Given the description of an element on the screen output the (x, y) to click on. 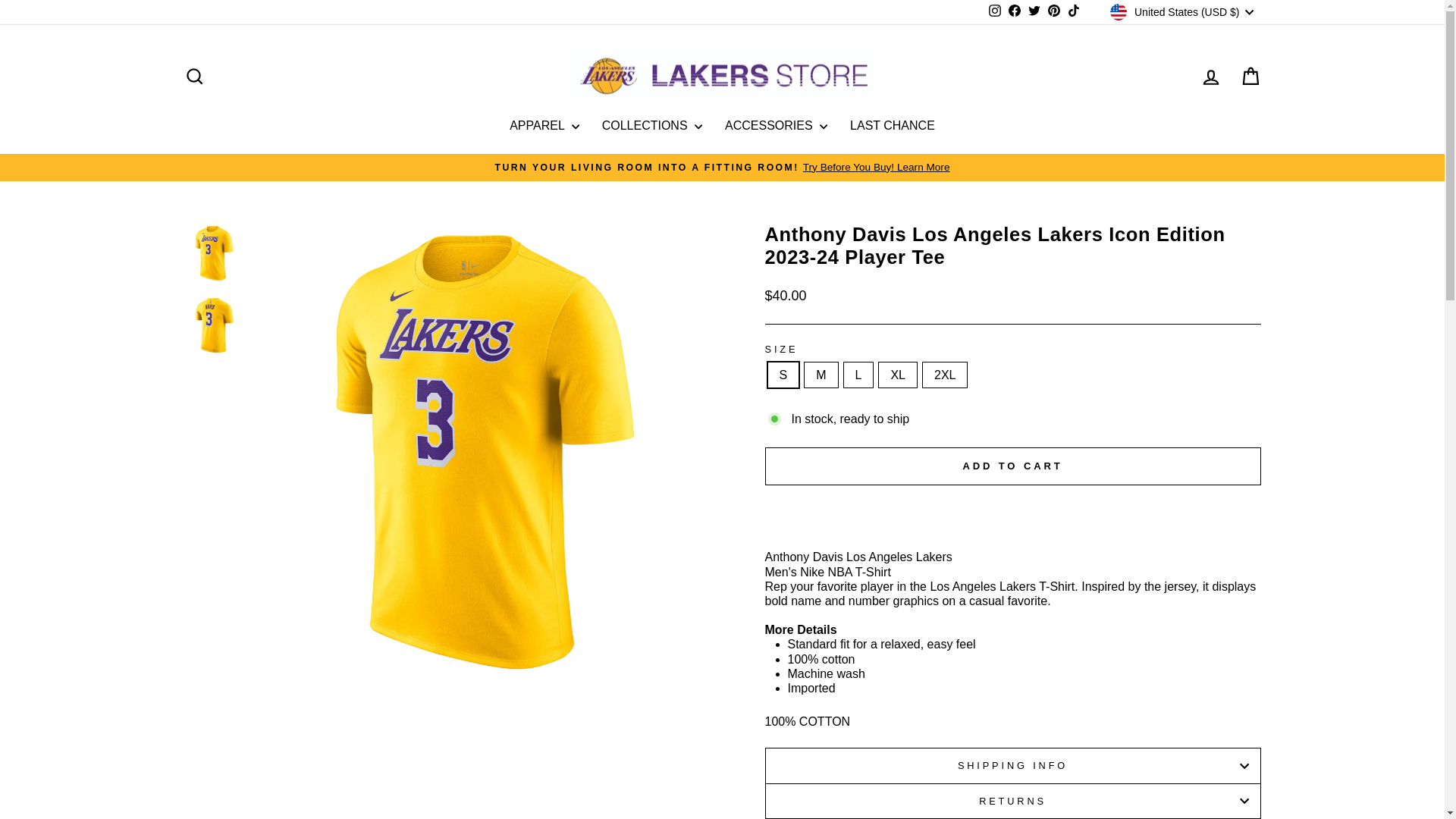
Lakers Store on Twitter (1034, 12)
Lakers Store on TikTok (1073, 12)
account (1210, 76)
twitter (1034, 10)
icon-search (194, 76)
Lakers Store on Pinterest (1053, 12)
instagram (994, 10)
Lakers Store on Instagram (994, 12)
Lakers Store on Facebook (1014, 12)
